Given the description of an element on the screen output the (x, y) to click on. 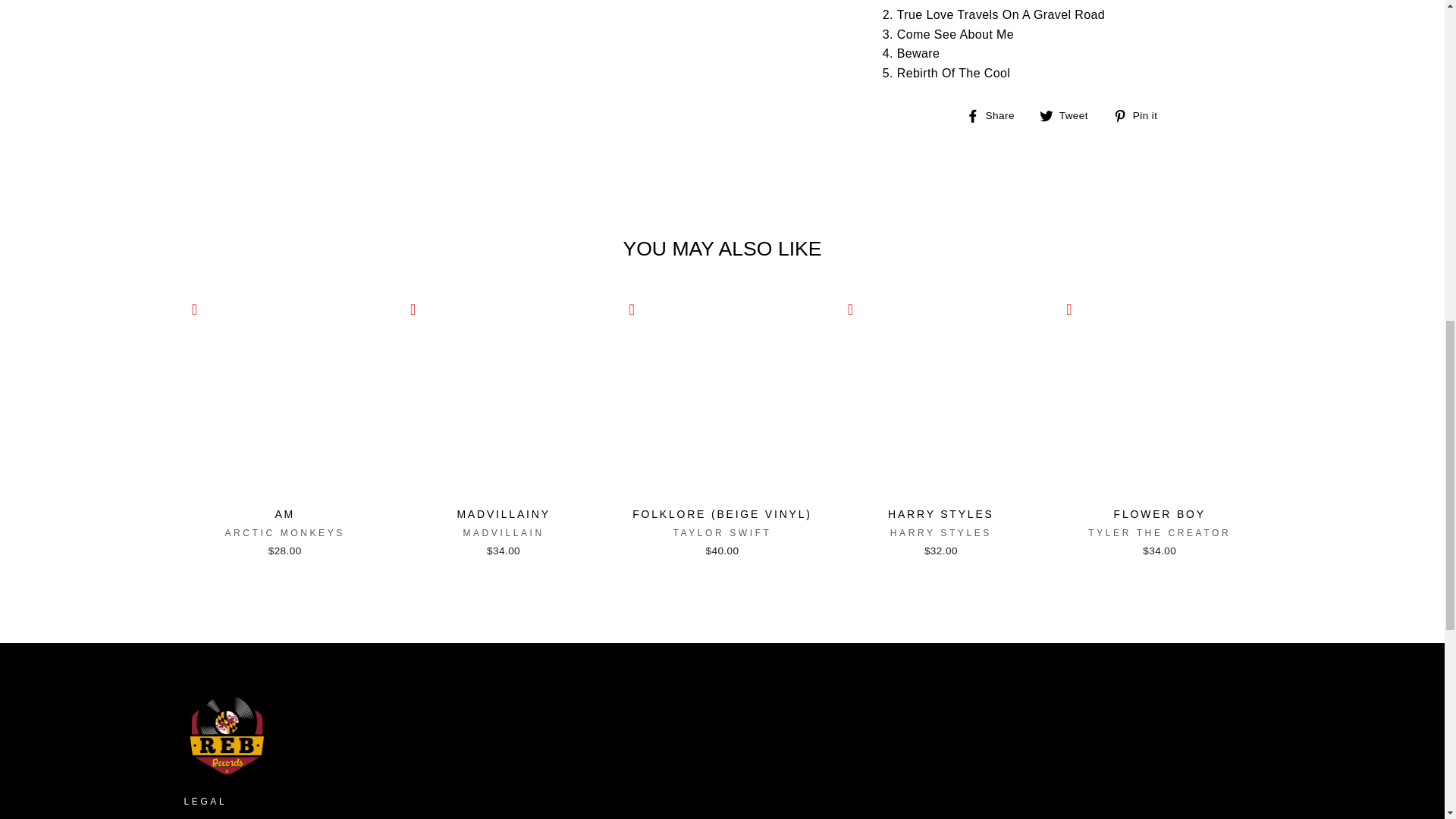
Harry Styles (940, 532)
Add to wishlist (1069, 309)
Pin on Pinterest (1141, 115)
Arctic Monkeys (283, 532)
Add to wishlist (631, 309)
Add to wishlist (413, 309)
Madvillain (503, 532)
Add to wishlist (850, 309)
Taylor Swift (721, 532)
Add to wishlist (194, 309)
